Given the description of an element on the screen output the (x, y) to click on. 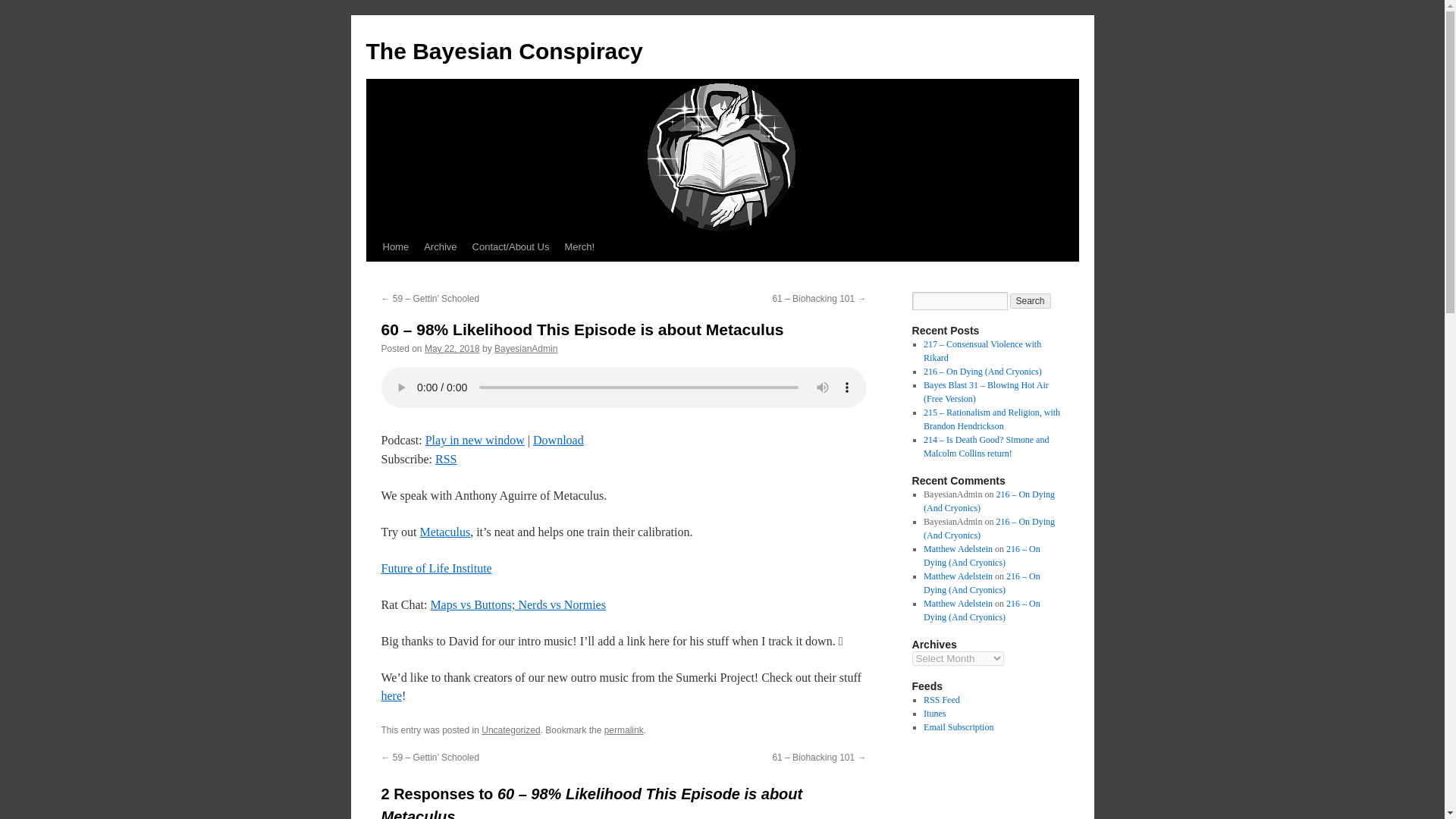
Search (1030, 300)
Matthew Adelstein (957, 548)
Future of Life Institute (436, 567)
11:04 pm (452, 348)
Play in new window (474, 440)
Subscribe via RSS (446, 459)
The Bayesian Conspiracy (503, 50)
Metaculus (444, 531)
Merch! (579, 246)
here (390, 695)
Play in new window (474, 440)
Home (395, 246)
RSS (446, 459)
May 22, 2018 (452, 348)
Search (1030, 300)
